Given the description of an element on the screen output the (x, y) to click on. 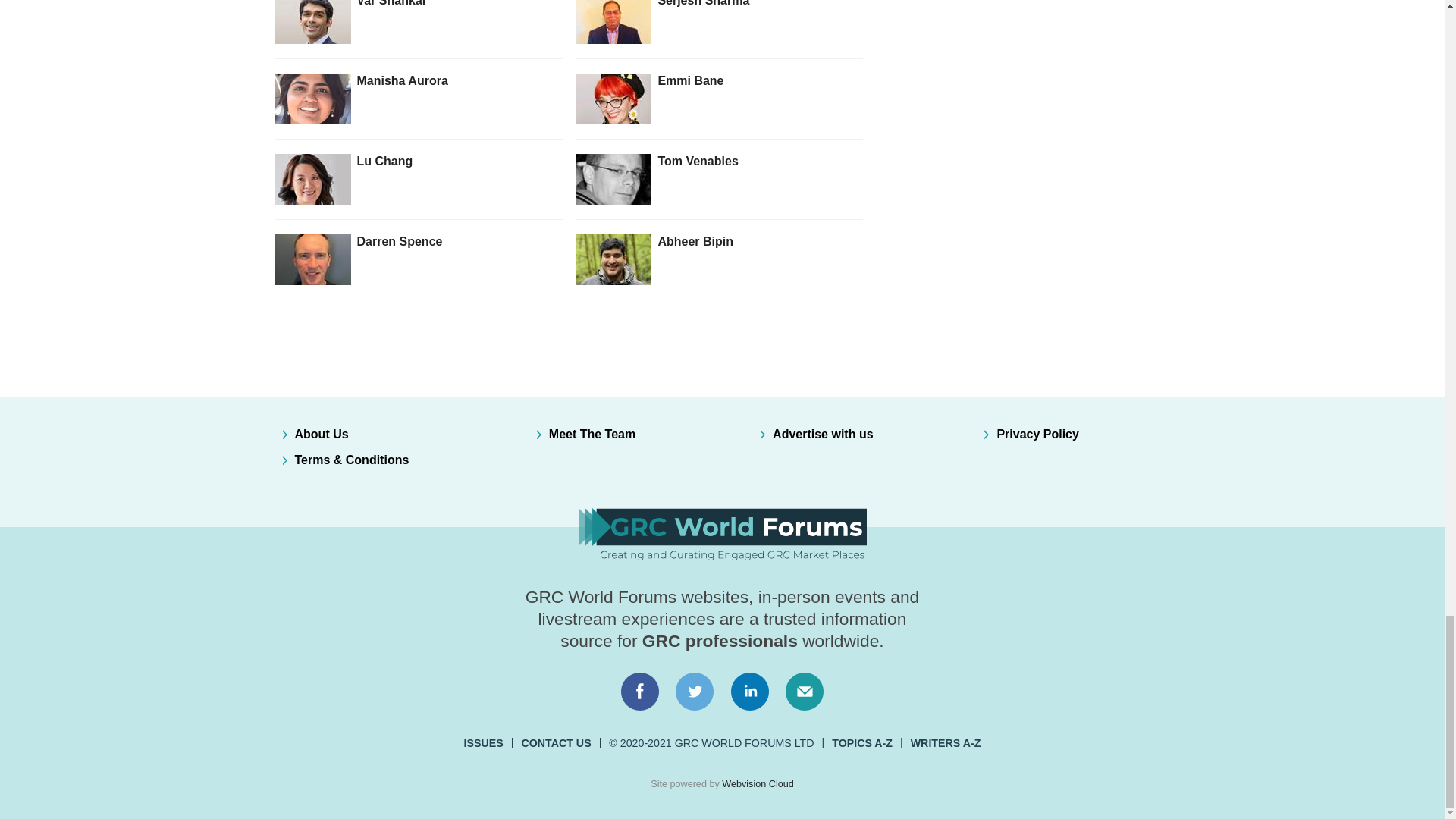
Connect with us on Facebook (639, 691)
Email us (804, 691)
Connect with us on Twitter (694, 691)
Connect with us on LinkedIn (750, 691)
